Given the description of an element on the screen output the (x, y) to click on. 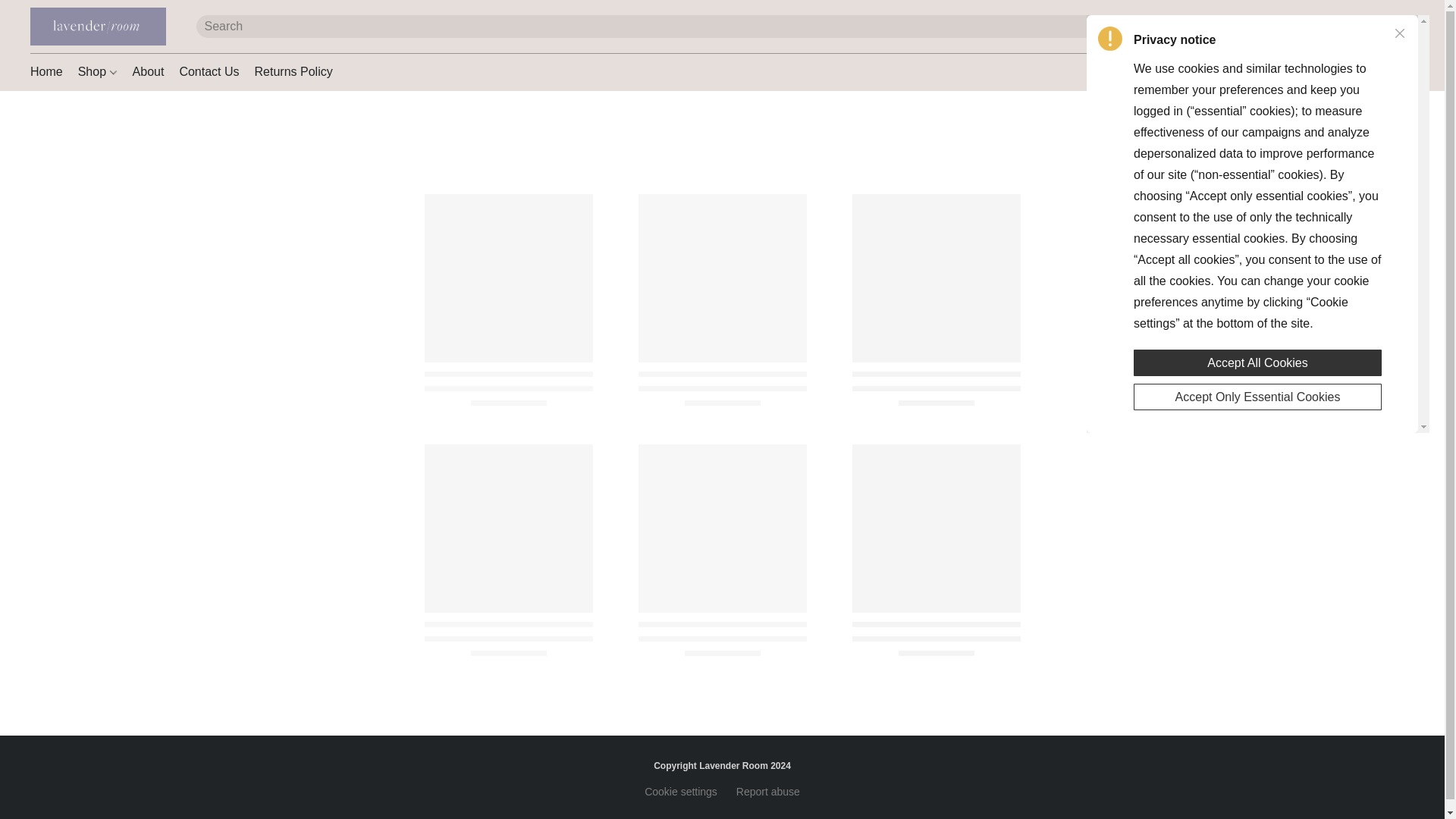
About (148, 71)
01273 220380 (1211, 71)
Accept All Cookies (1257, 361)
Accept Only Essential Cookies (1257, 396)
Go to your shopping cart (1404, 26)
Returns Policy (290, 71)
Shop (97, 71)
Contact Us (208, 71)
Home (49, 71)
Report abuse (767, 791)
